Given the description of an element on the screen output the (x, y) to click on. 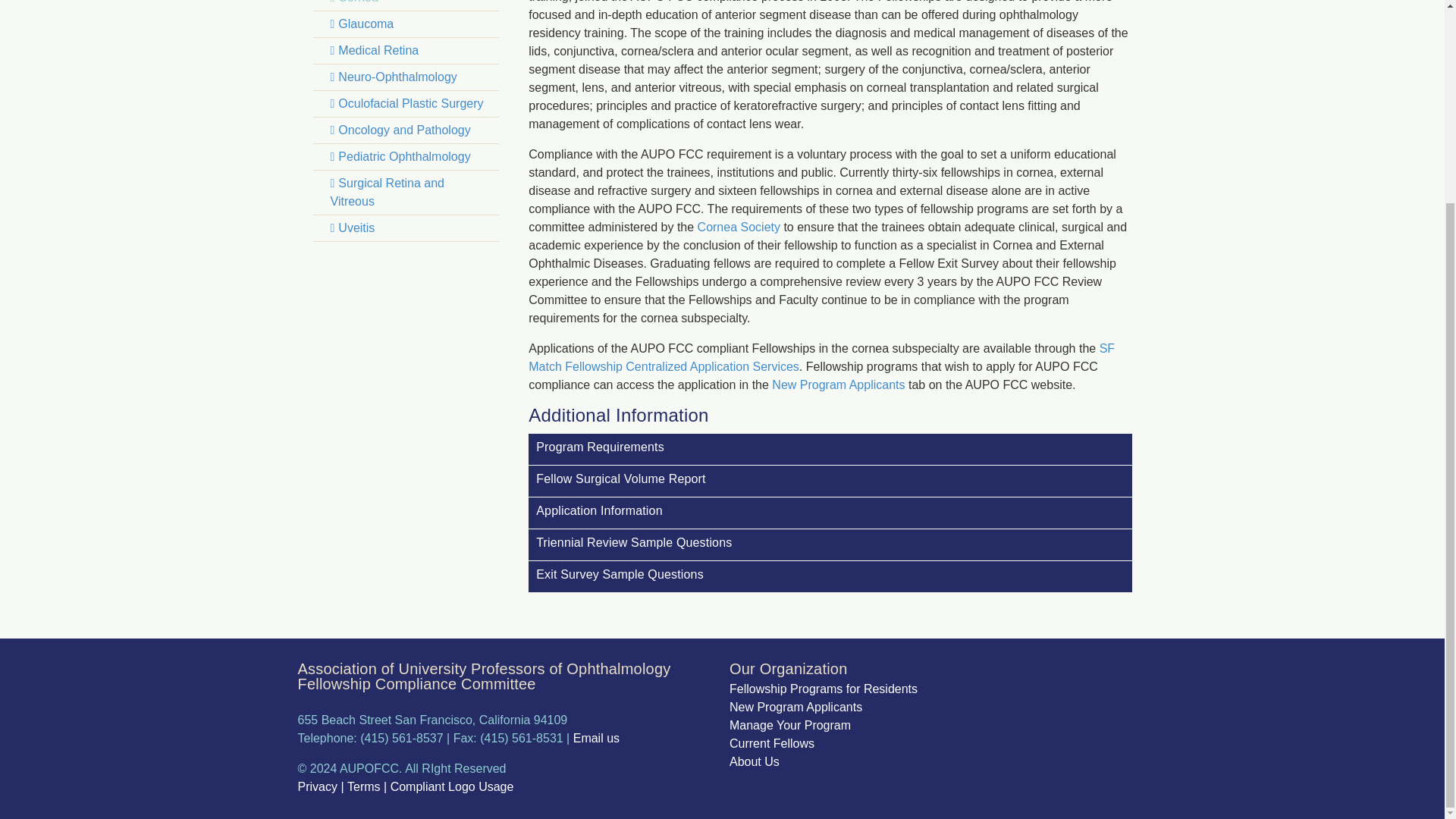
SF Match Fellowship Centralized Application Services (821, 357)
New Program Applicants (837, 384)
Cornea Society (738, 226)
